Given the description of an element on the screen output the (x, y) to click on. 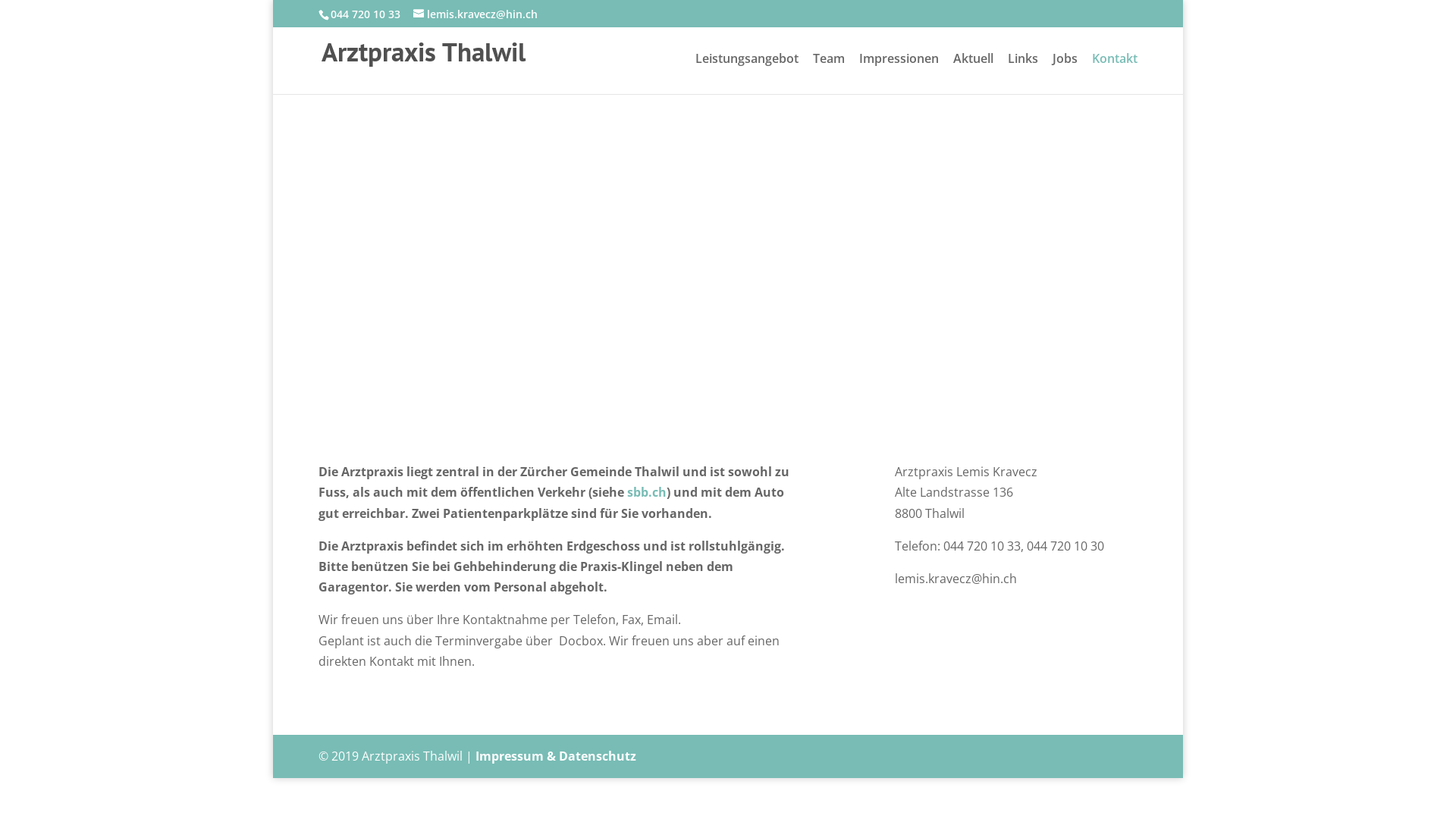
Kontakt Element type: text (1114, 73)
Aktuell Element type: text (973, 73)
Leistungsangebot Element type: text (746, 73)
lemis.kravecz@hin.ch Element type: text (475, 13)
Impressum & Datenschutz Element type: text (555, 755)
Links Element type: text (1022, 73)
Team Element type: text (828, 73)
Arztpraxis Thalwil Element type: text (423, 56)
Impressionen Element type: text (898, 73)
sbb.ch Element type: text (646, 491)
Jobs Element type: text (1064, 73)
